Given the description of an element on the screen output the (x, y) to click on. 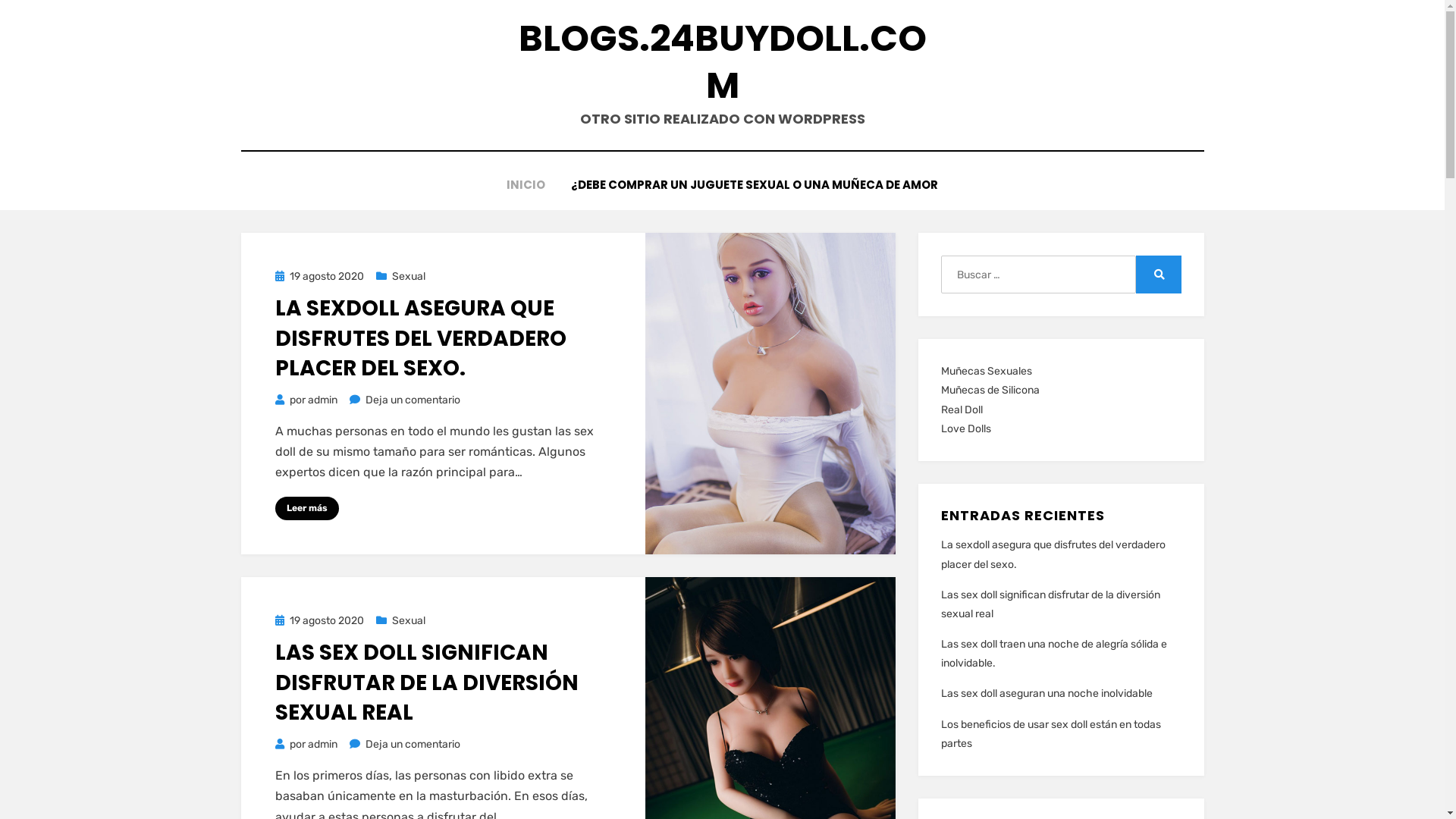
19 agosto 2020 Element type: text (318, 620)
Sexual Element type: text (400, 275)
Las sex doll aseguran una noche inolvidable Element type: text (1046, 693)
Love Dolls Element type: text (966, 428)
Sexual Element type: text (400, 620)
Real Doll Element type: text (961, 409)
admin Element type: text (322, 399)
BLOGS.24BUYDOLL.COM Element type: text (722, 61)
INICIO Element type: text (525, 184)
admin Element type: text (322, 743)
Buscar Element type: text (1158, 274)
19 agosto 2020 Element type: text (318, 275)
Buscar: Element type: hover (1038, 274)
